Given the description of an element on the screen output the (x, y) to click on. 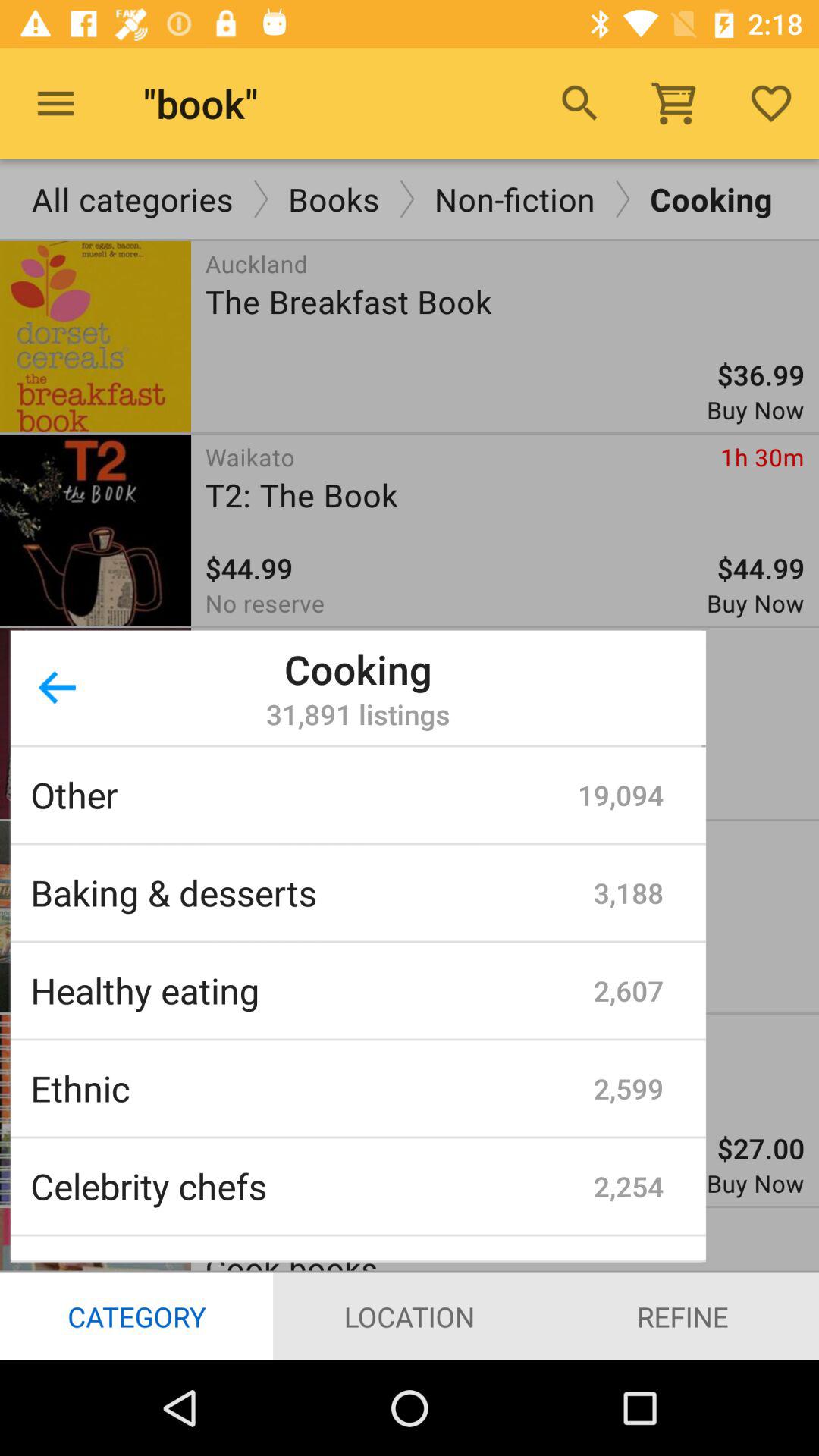
turn off the item to the left of the 19,094 item (303, 794)
